Given the description of an element on the screen output the (x, y) to click on. 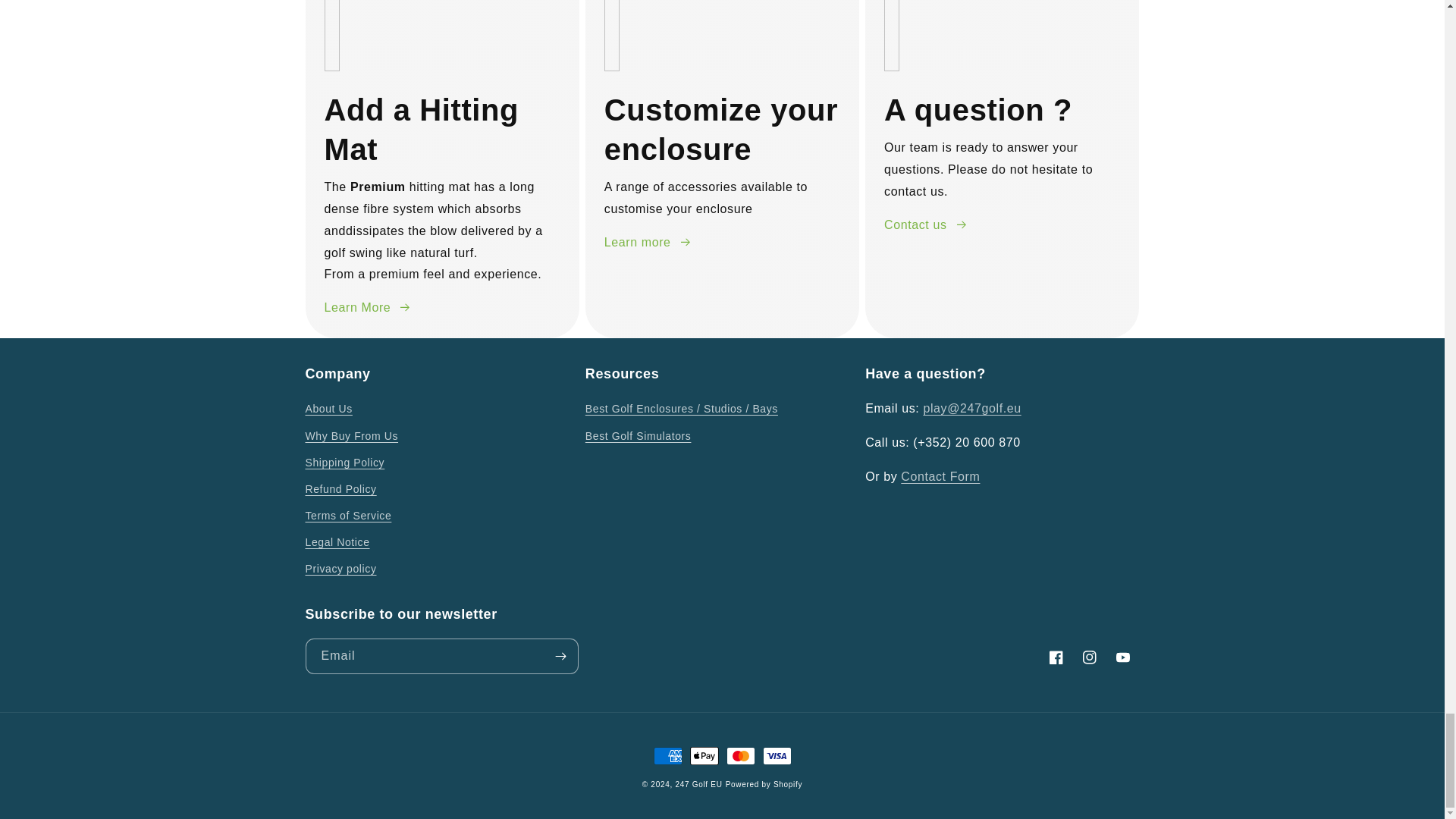
Contact Us (940, 476)
